Given the description of an element on the screen output the (x, y) to click on. 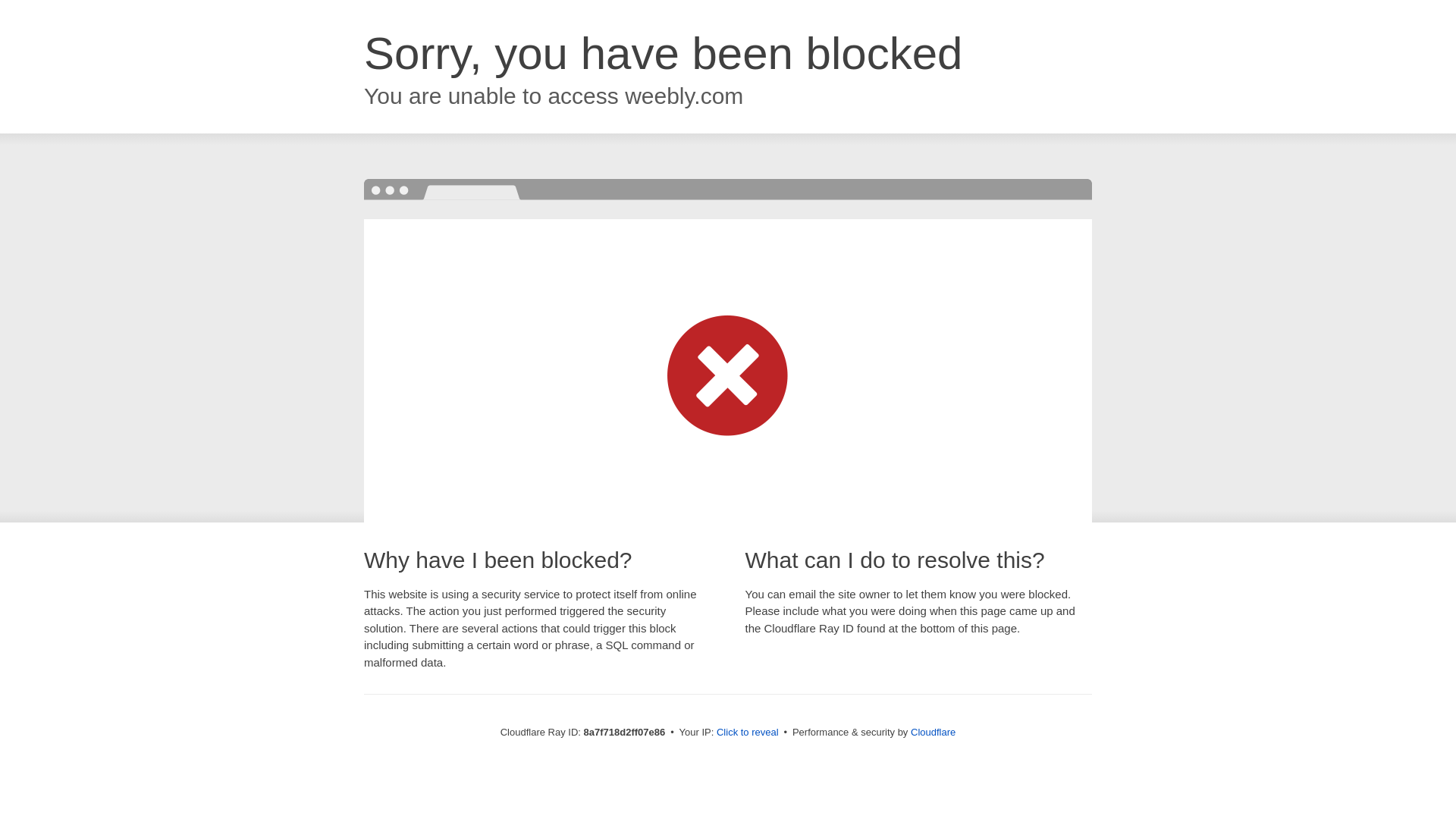
Cloudflare (933, 731)
Click to reveal (747, 732)
